Given the description of an element on the screen output the (x, y) to click on. 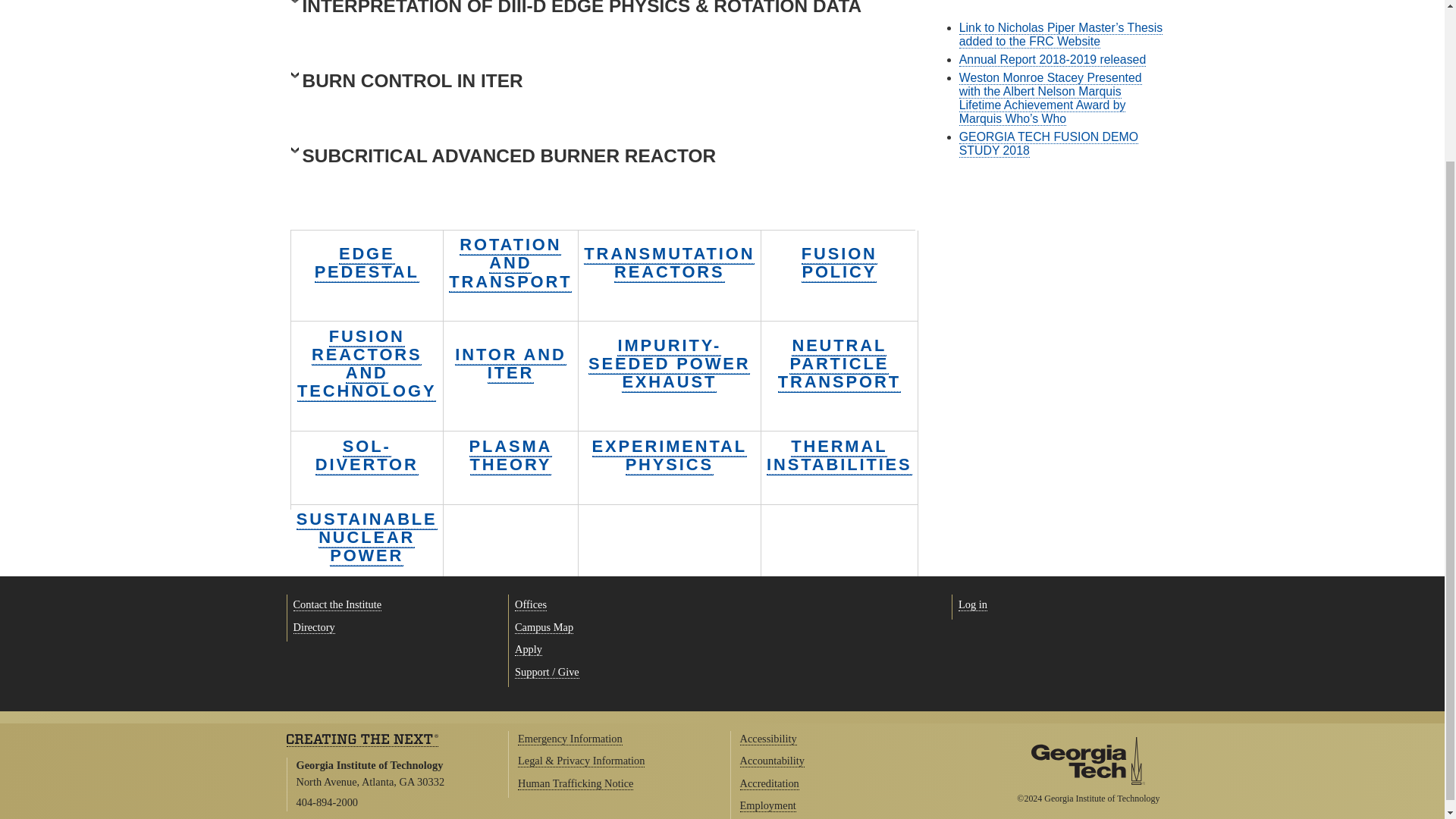
FUSION POLICY (839, 262)
FUSION REACTORS AND TECHNOLOGY (366, 364)
NEUTRAL PARTICLE TRANSPORT (839, 363)
SOL-DIVERTOR (367, 455)
TRANSMUTATION REACTORS (668, 262)
INTOR AND ITER (510, 363)
SUBCRITICAL ADVANCED BURNER REACTOR (588, 159)
EDGE PEDESTAL (366, 262)
BURN CONTROL IN ITER (588, 84)
IMPURITY-SEEDED POWER EXHAUST (668, 363)
ROTATION AND TRANSPORT (510, 263)
